Given the description of an element on the screen output the (x, y) to click on. 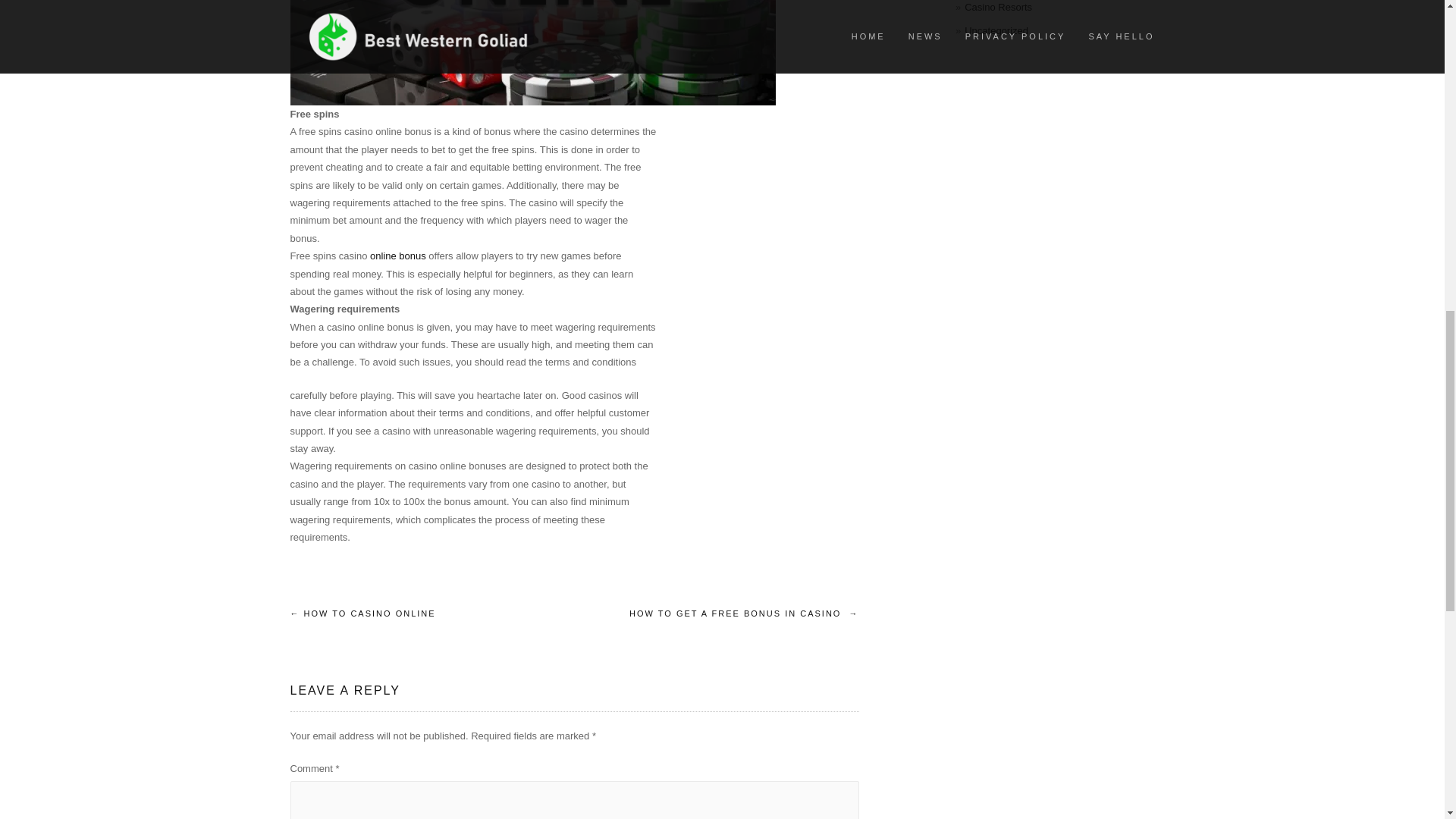
online bonus (397, 255)
Uncategorized (995, 30)
Casino Resorts (997, 7)
